Given the description of an element on the screen output the (x, y) to click on. 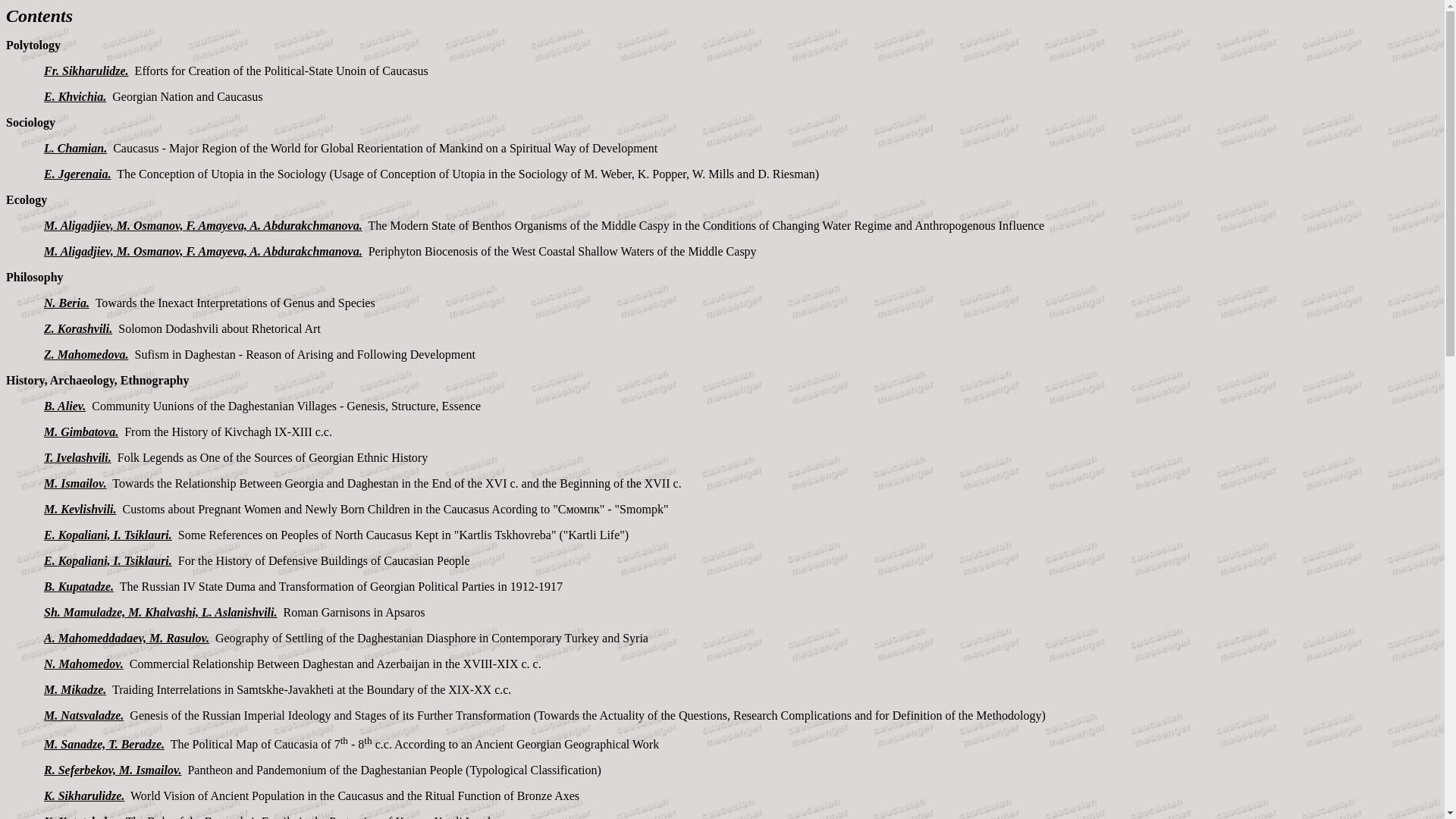
E. Jgerenaia. (76, 173)
E. Kopaliani, I. Tsiklauri. (107, 560)
Sh. Mamuladze, M. Khalvashi, L. Aslanishvili. (159, 612)
K. Kutateladze. (81, 816)
B. Kupatadze. (78, 585)
M. Aligadjiev, M. Osmanov, F. Amayeva, A. Abdurakchmanova. (202, 250)
N. Beria. (65, 302)
M. Ismailov. (74, 482)
L. Chamian. (74, 147)
M. Sanadze, T. Beradze. (103, 744)
M. Aligadjiev, M. Osmanov, F. Amayeva, A. Abdurakchmanova. (202, 225)
Fr. Sikharulidze. (86, 70)
T. Ivelashvili. (77, 457)
E. Khvichia. (74, 96)
M. Mikadze. (74, 689)
